Given the description of an element on the screen output the (x, y) to click on. 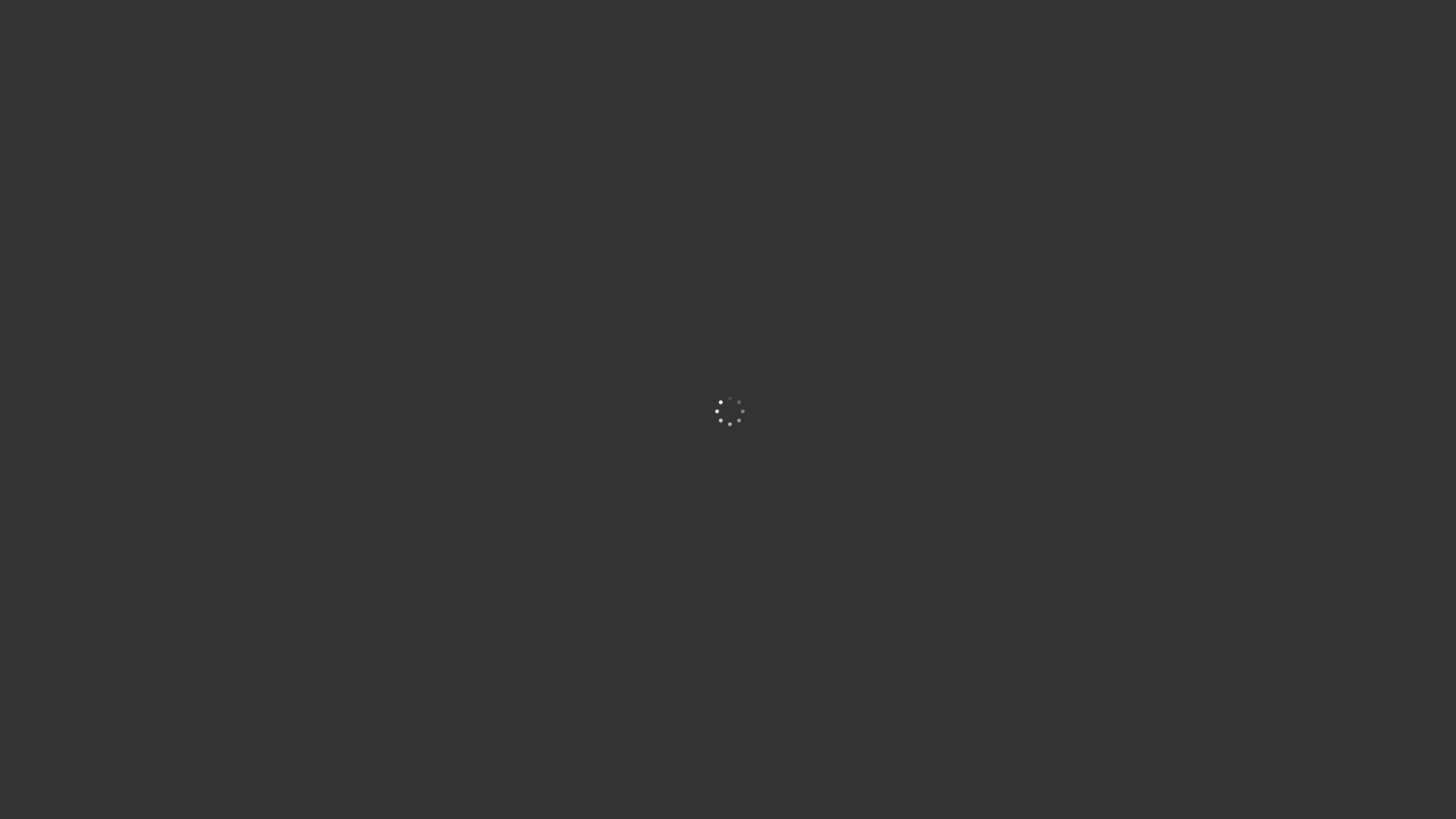
+99412 436 93 86 Element type: text (372, 17)
Abconsulting Element type: hover (348, 67)
Qanunvericilik Element type: text (899, 68)
Skip to content Element type: text (0, 0)
Facebook Element type: hover (1152, 17)
office@abconsulting.az Element type: text (536, 17)
